Given the description of an element on the screen output the (x, y) to click on. 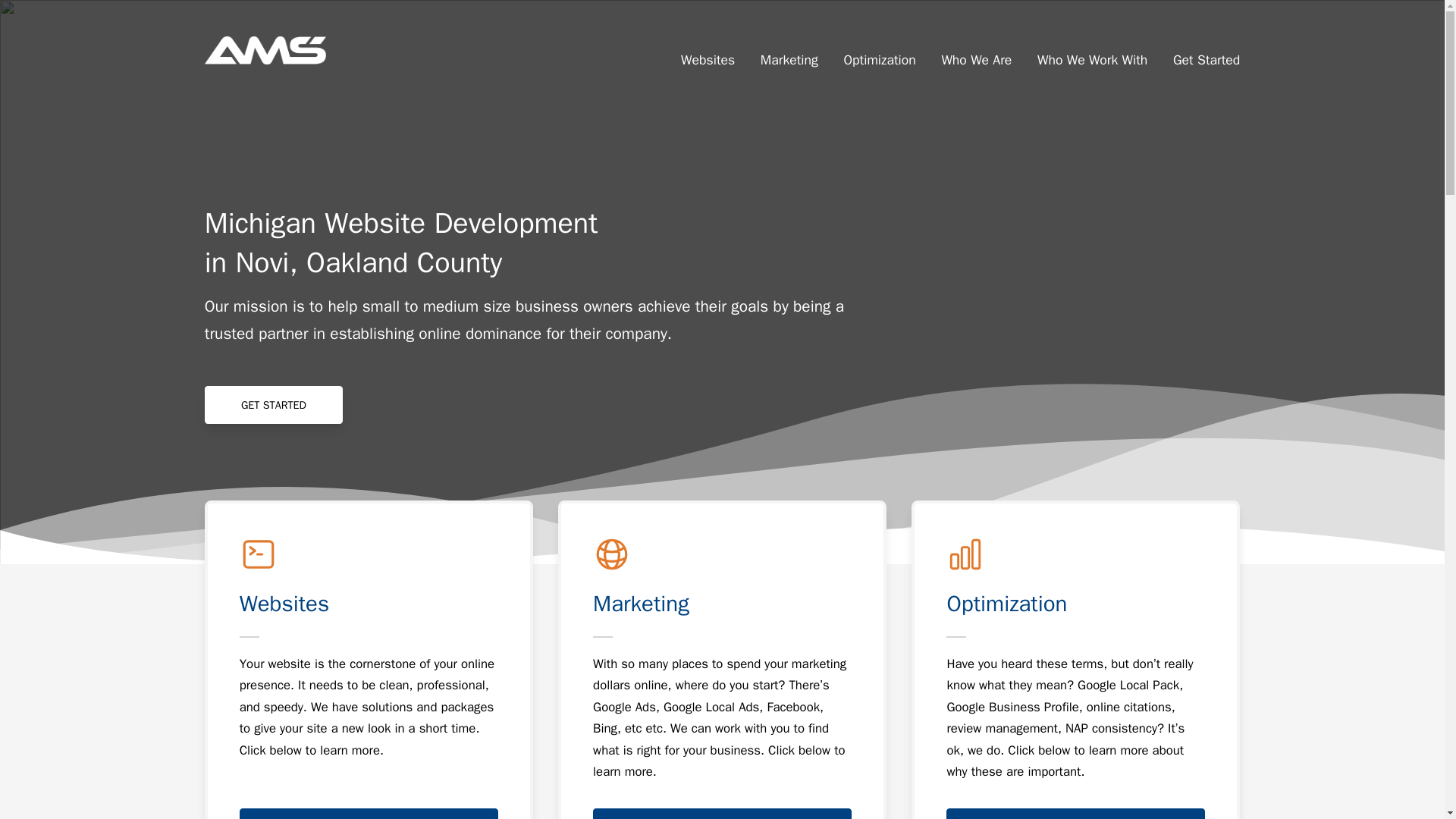
DIGITAL MARKETING (721, 813)
Optimization (879, 49)
GET STARTED (273, 404)
Marketing (789, 49)
Get Started (1200, 49)
Who We Work With (1092, 49)
Websites (714, 49)
Advanced Media Solutions (265, 50)
ONLINE OPTIMIZATION (1075, 813)
Who We Are (976, 49)
WEBSITE DEVELOPMENT (368, 813)
